Given the description of an element on the screen output the (x, y) to click on. 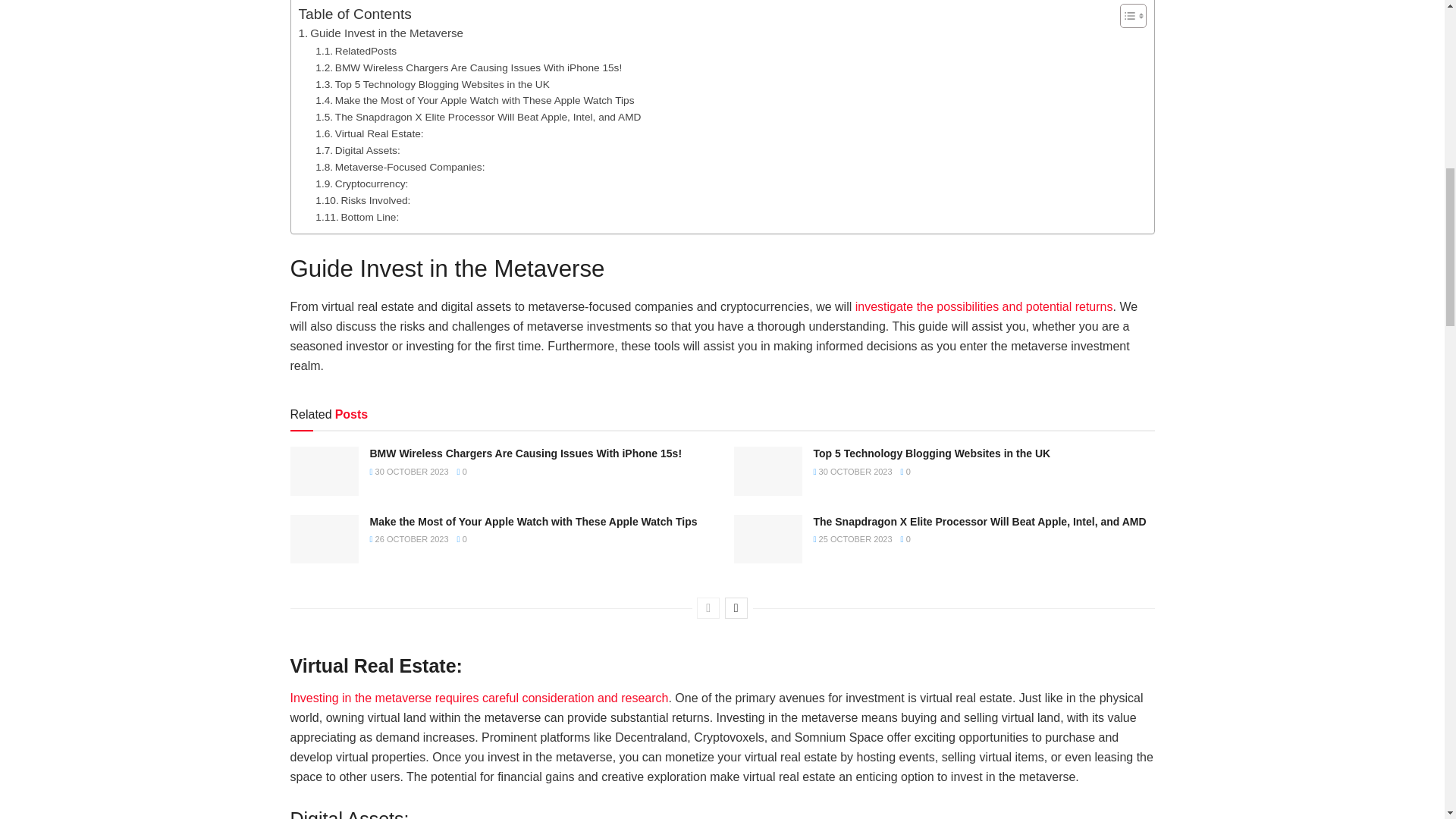
Top 5 Technology Blogging Websites in the UK (432, 84)
BMW Wireless Chargers Are Causing Issues With iPhone 15s! (468, 67)
RelatedPosts (355, 51)
Previous (708, 608)
Cryptocurrency: (361, 184)
Digital Assets: (356, 150)
Bottom Line: (356, 217)
Risks Involved: (362, 200)
